Given the description of an element on the screen output the (x, y) to click on. 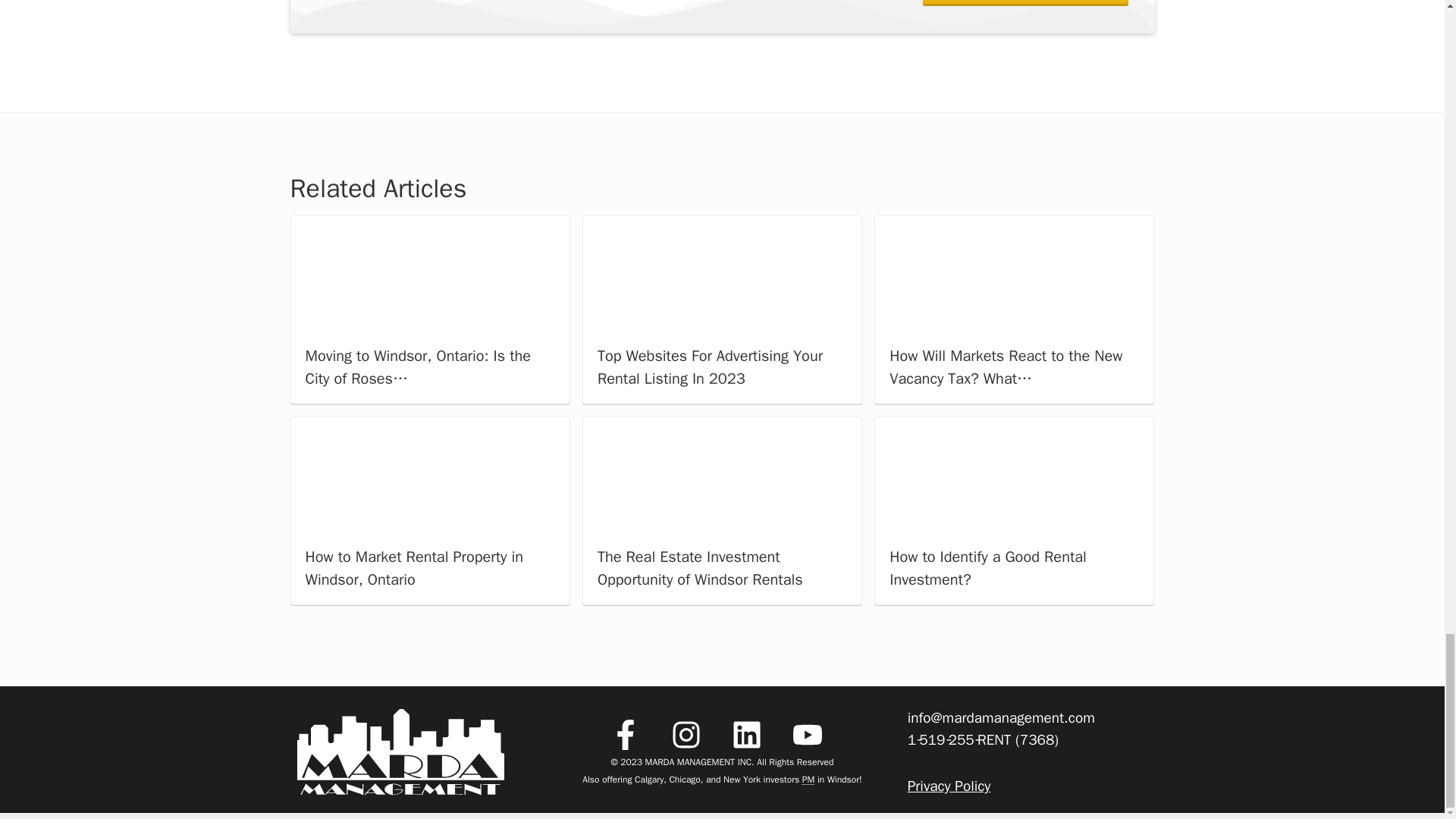
marda-management-log-white (400, 752)
Top Websites For Advertising Your Rental Listing In 2023 (722, 275)
The Real Estate Investment Opportunity of Windsor Rentals (722, 476)
Property Management (808, 779)
How to Identify a Good Rental Investment? (1014, 476)
How to Market Rental Property in Windsor, Ontario (429, 476)
